Given the description of an element on the screen output the (x, y) to click on. 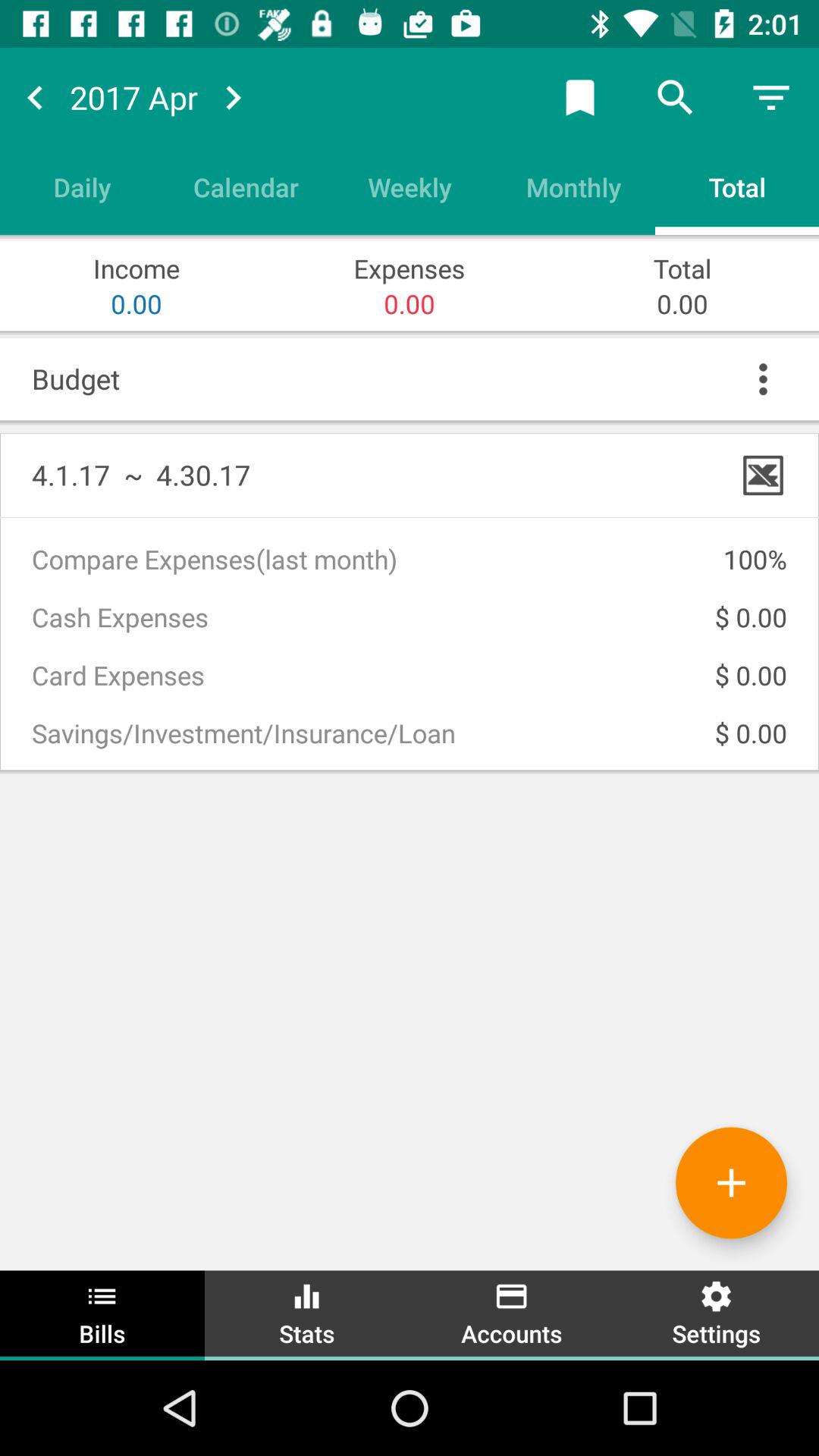
launch item next to total icon (573, 186)
